Given the description of an element on the screen output the (x, y) to click on. 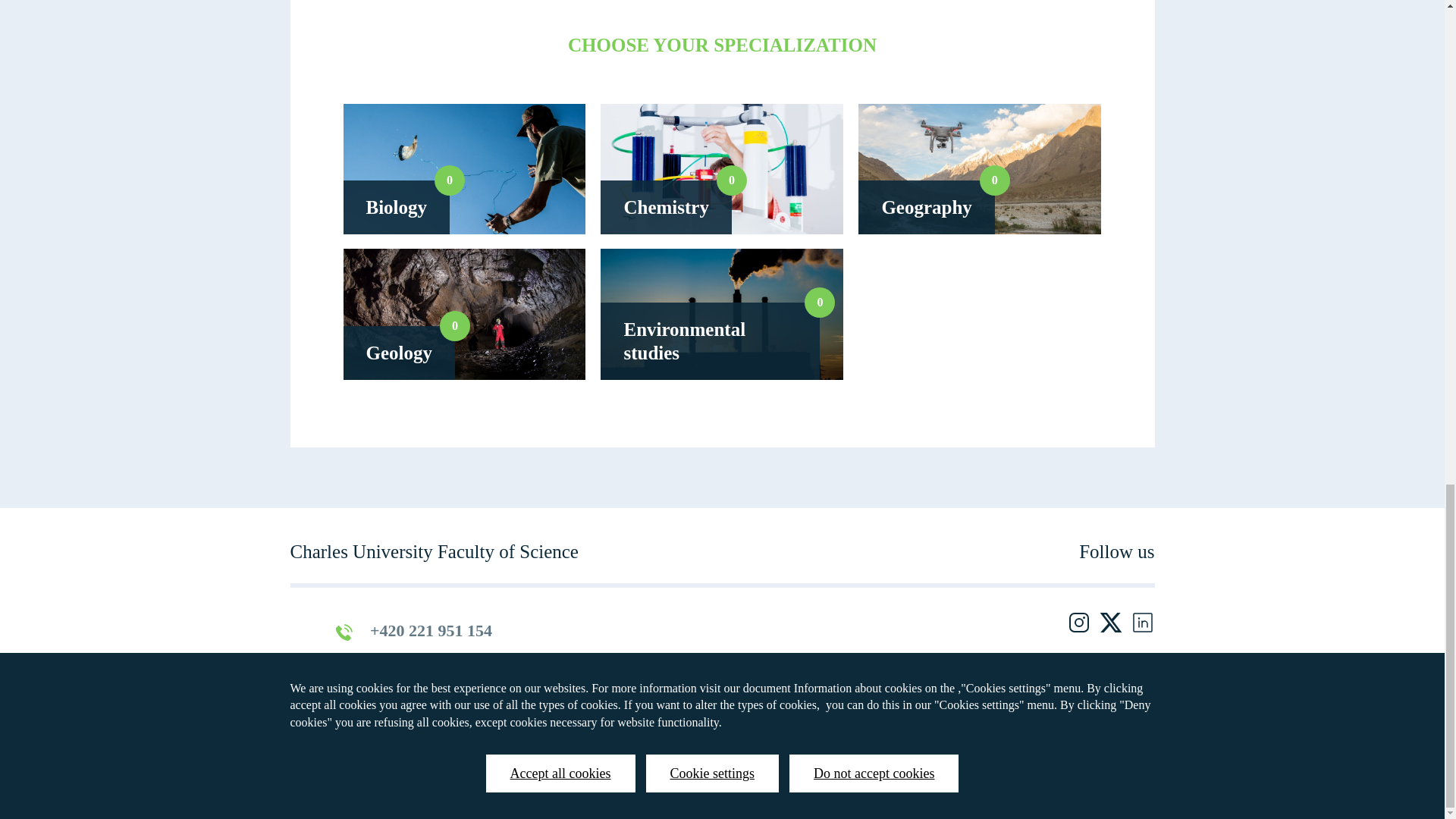
Contact (817, 736)
Practical info (747, 736)
Open Calls (979, 256)
Why Faculty of Science (721, 169)
Your applications (463, 314)
